Given the description of an element on the screen output the (x, y) to click on. 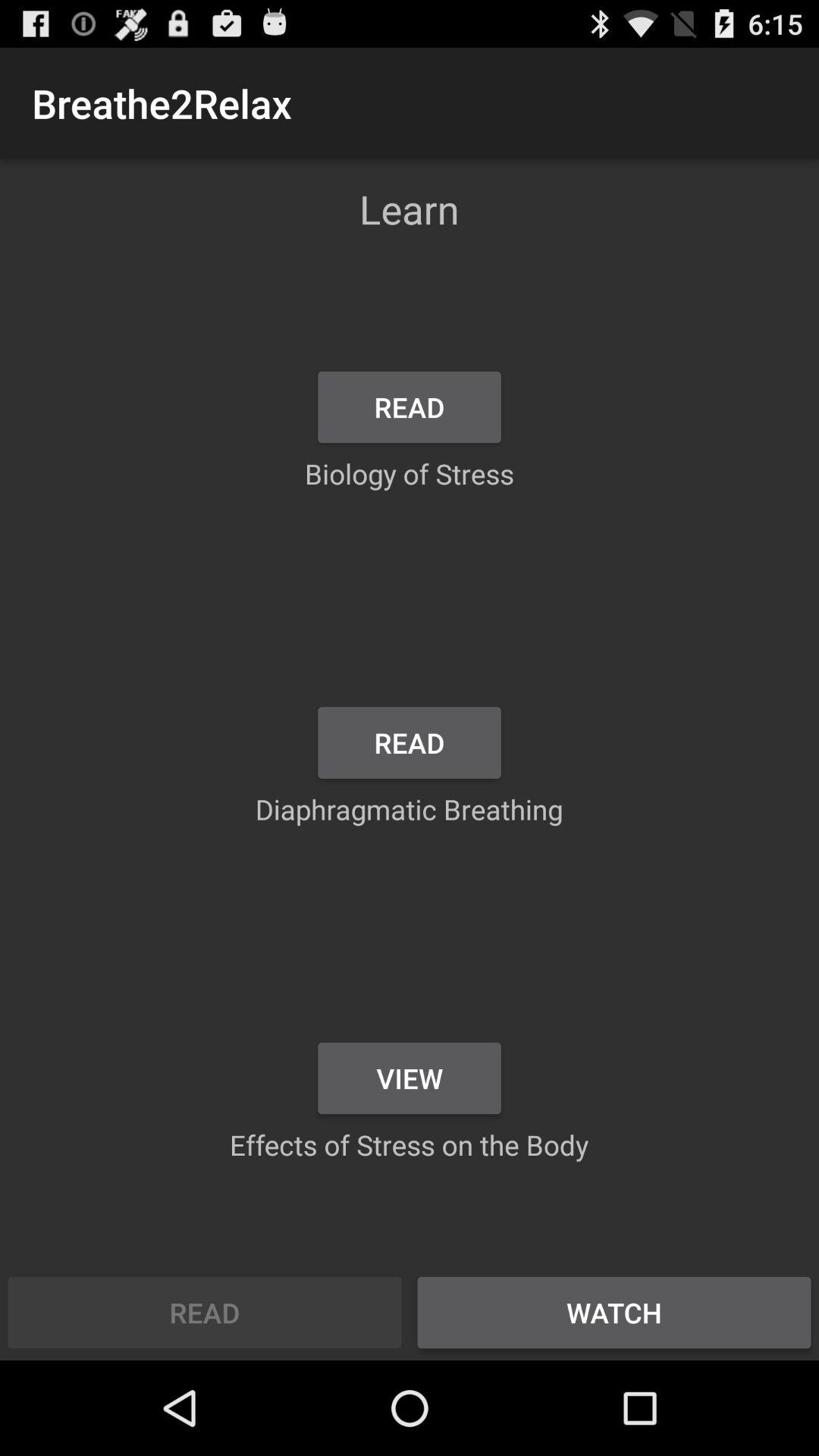
press the view (409, 1078)
